Given the description of an element on the screen output the (x, y) to click on. 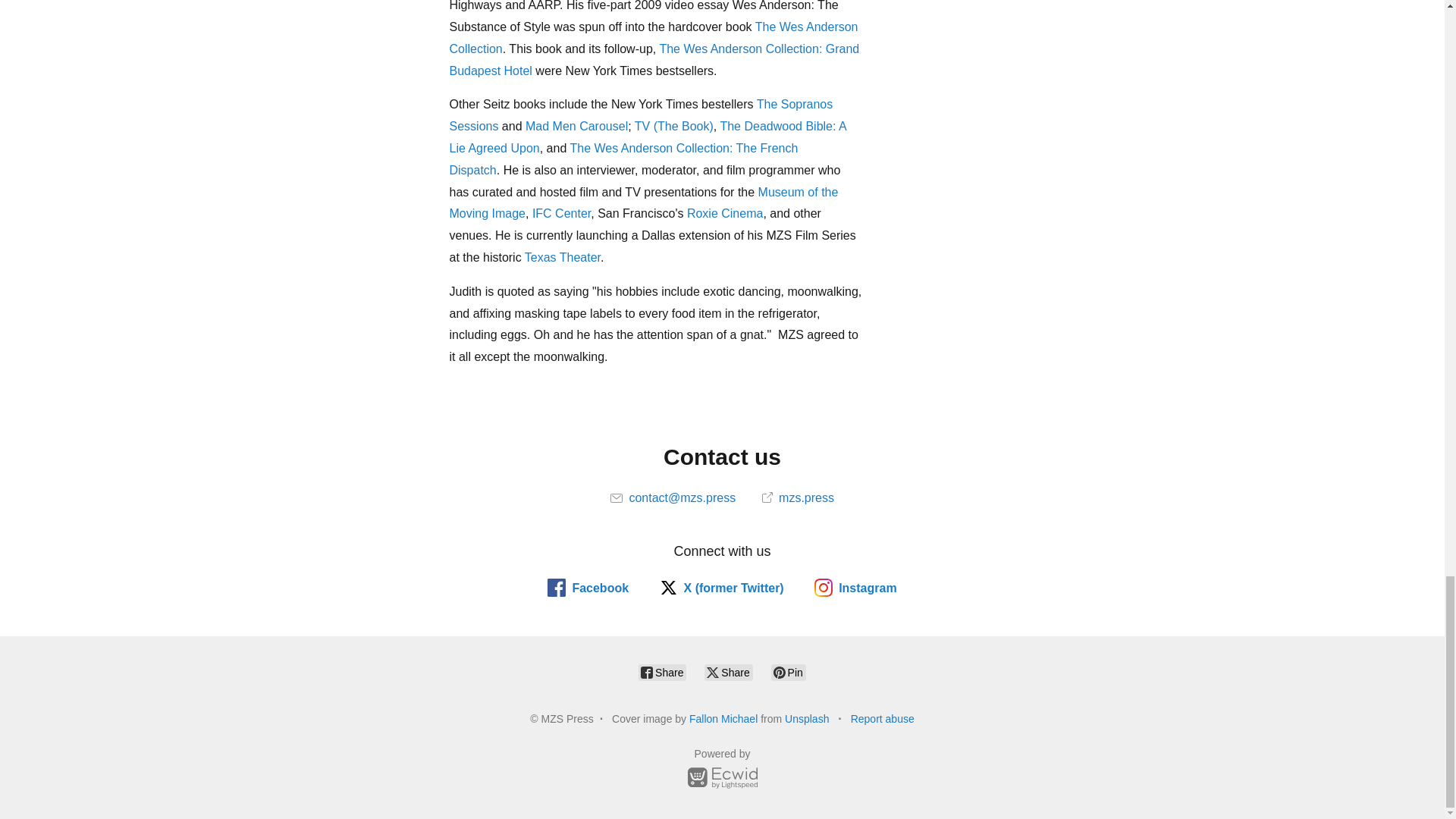
The Deadwood Bible: A Lie Agreed Upon (646, 136)
Facebook (587, 587)
The Wes Anderson Collection (652, 37)
IFC Center (561, 213)
Museum of the Moving Image (643, 202)
Mad Men Carousel (576, 125)
The Wes Anderson Collection: Grand Budapest Hotel (653, 59)
Roxie Cinema (724, 213)
The Wes Anderson Collection: The French Dispatch (622, 158)
Share (662, 672)
The Sopranos Sessions (640, 114)
Pin (788, 672)
Fallon Michael (722, 718)
Share (728, 672)
mzs.press (797, 497)
